Given the description of an element on the screen output the (x, y) to click on. 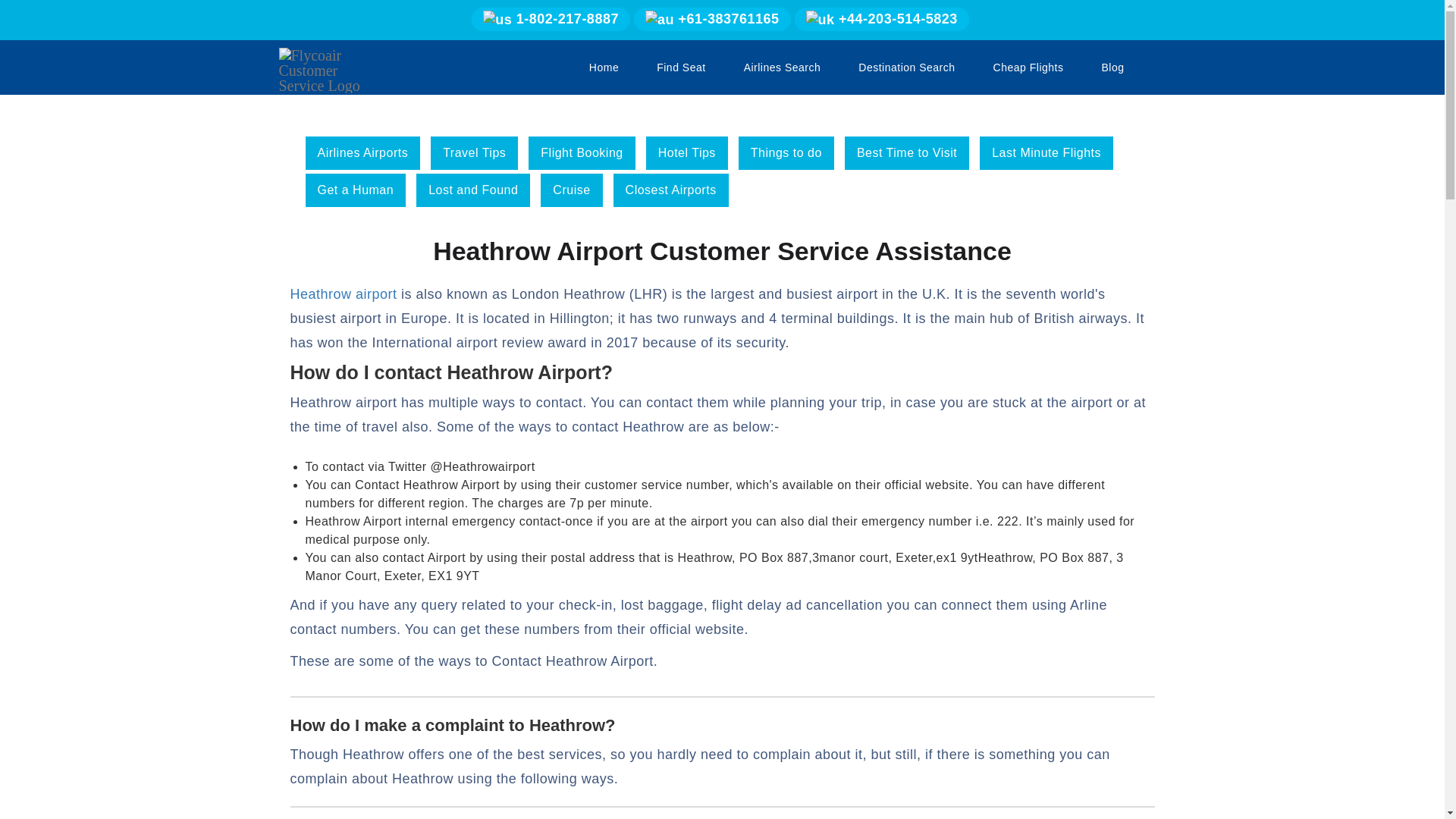
Blog (1112, 67)
Get a Human (355, 190)
Hotel Tips (687, 152)
Flight Booking (581, 152)
Heathrow airport (342, 294)
Last Minute Flights (1046, 152)
Closest Airports (670, 190)
Airlines Airports (362, 152)
Best Time to Visit (906, 152)
Lost and Found (472, 190)
